Given the description of an element on the screen output the (x, y) to click on. 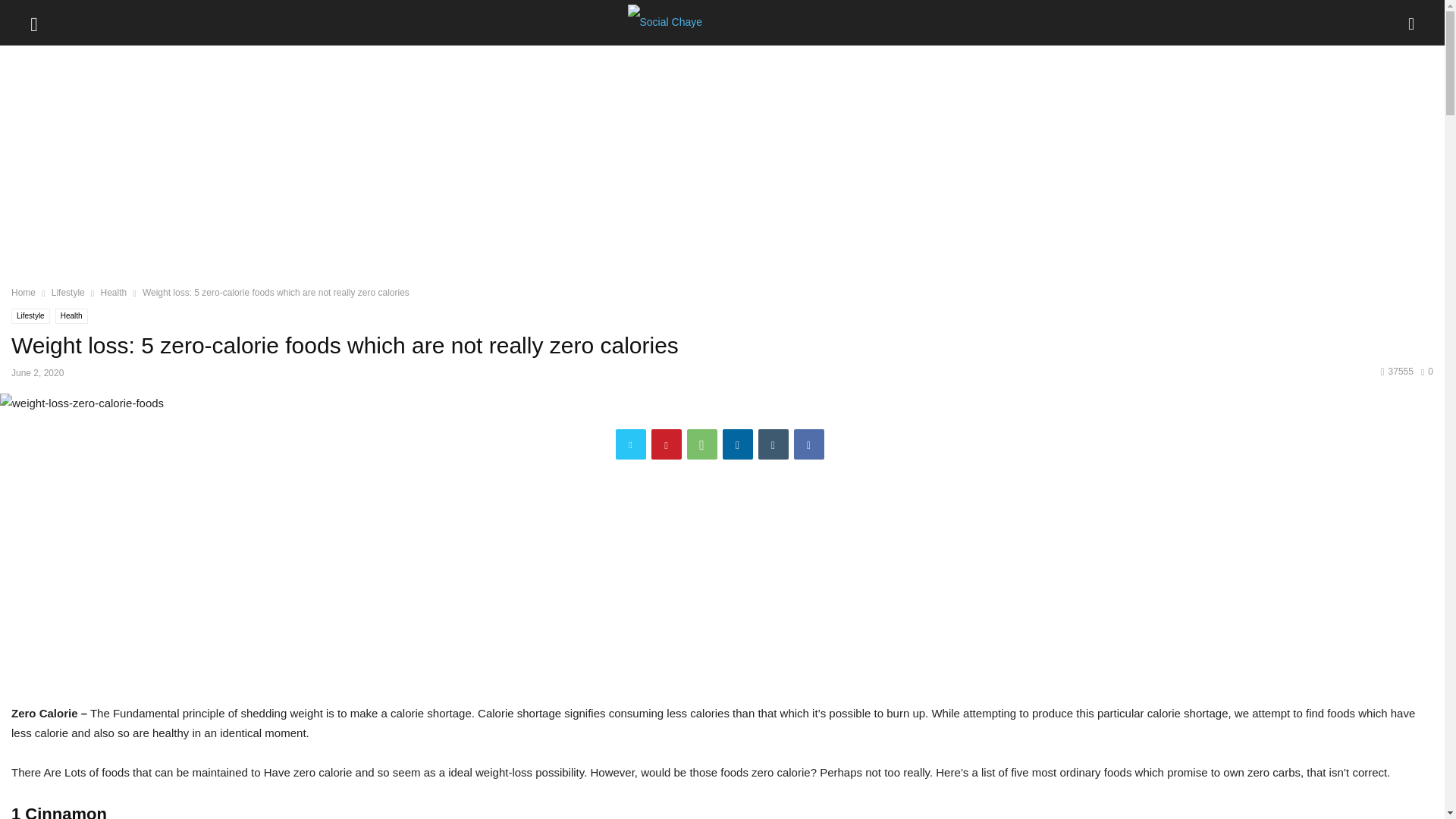
Lifestyle (67, 292)
View all posts in Lifestyle (67, 292)
weight-loss-zero-calorie-foods (81, 403)
Lifestyle (30, 315)
Search (26, 11)
Health (71, 315)
View all posts in Health (113, 292)
Social Chaye (721, 22)
0 (1426, 371)
Health (113, 292)
